Given the description of an element on the screen output the (x, y) to click on. 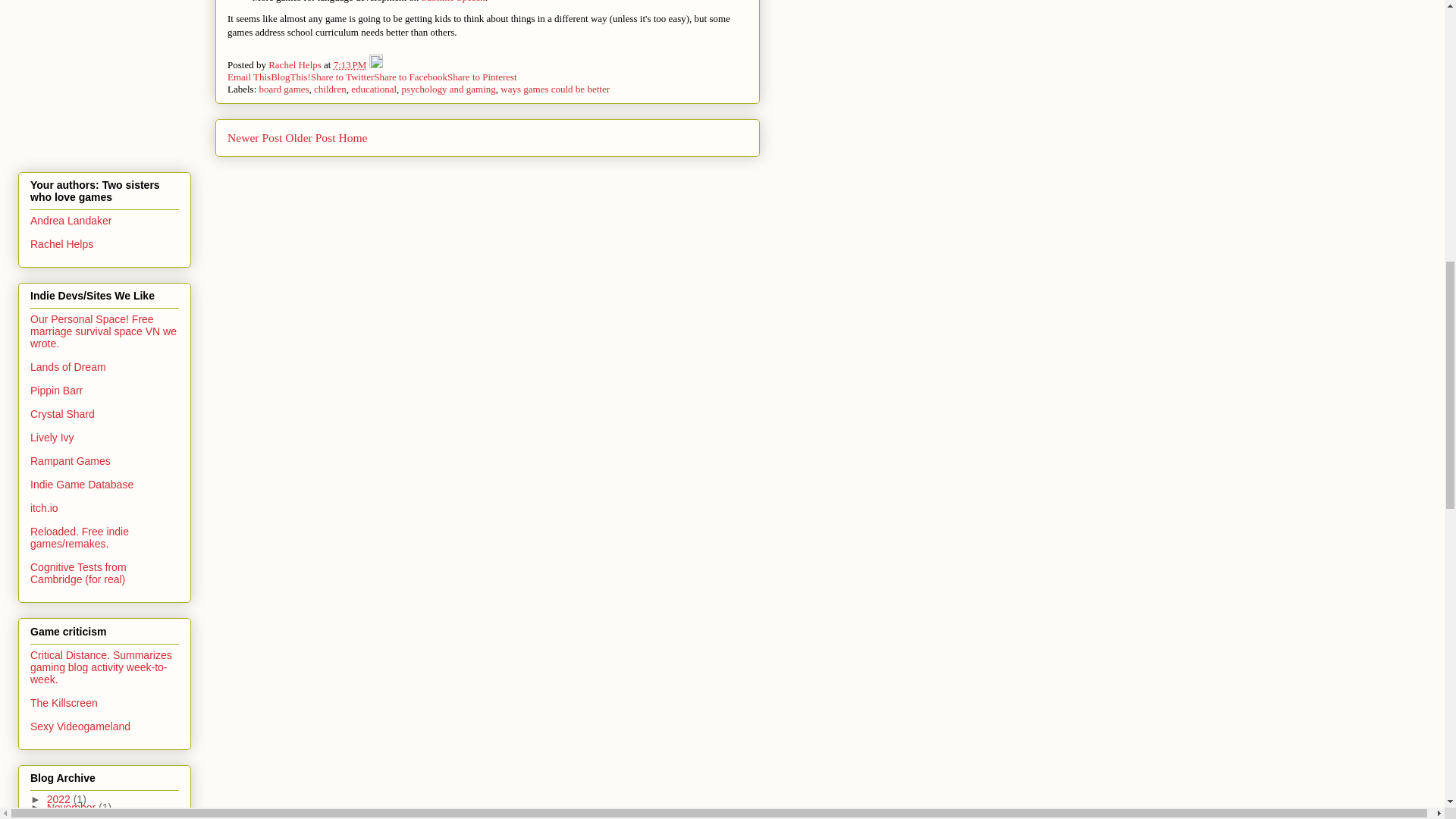
Lively Ivy (52, 437)
Rachel Helps (295, 64)
Newer Post (254, 137)
Share to Pinterest (481, 76)
Share to Facebook (410, 76)
Pippin Barr (56, 390)
Older Post (309, 137)
ways games could be better (555, 89)
children (330, 89)
Crystal Shard (62, 413)
Share to Pinterest (481, 76)
BlogThis! (290, 76)
permanent link (349, 64)
